Given the description of an element on the screen output the (x, y) to click on. 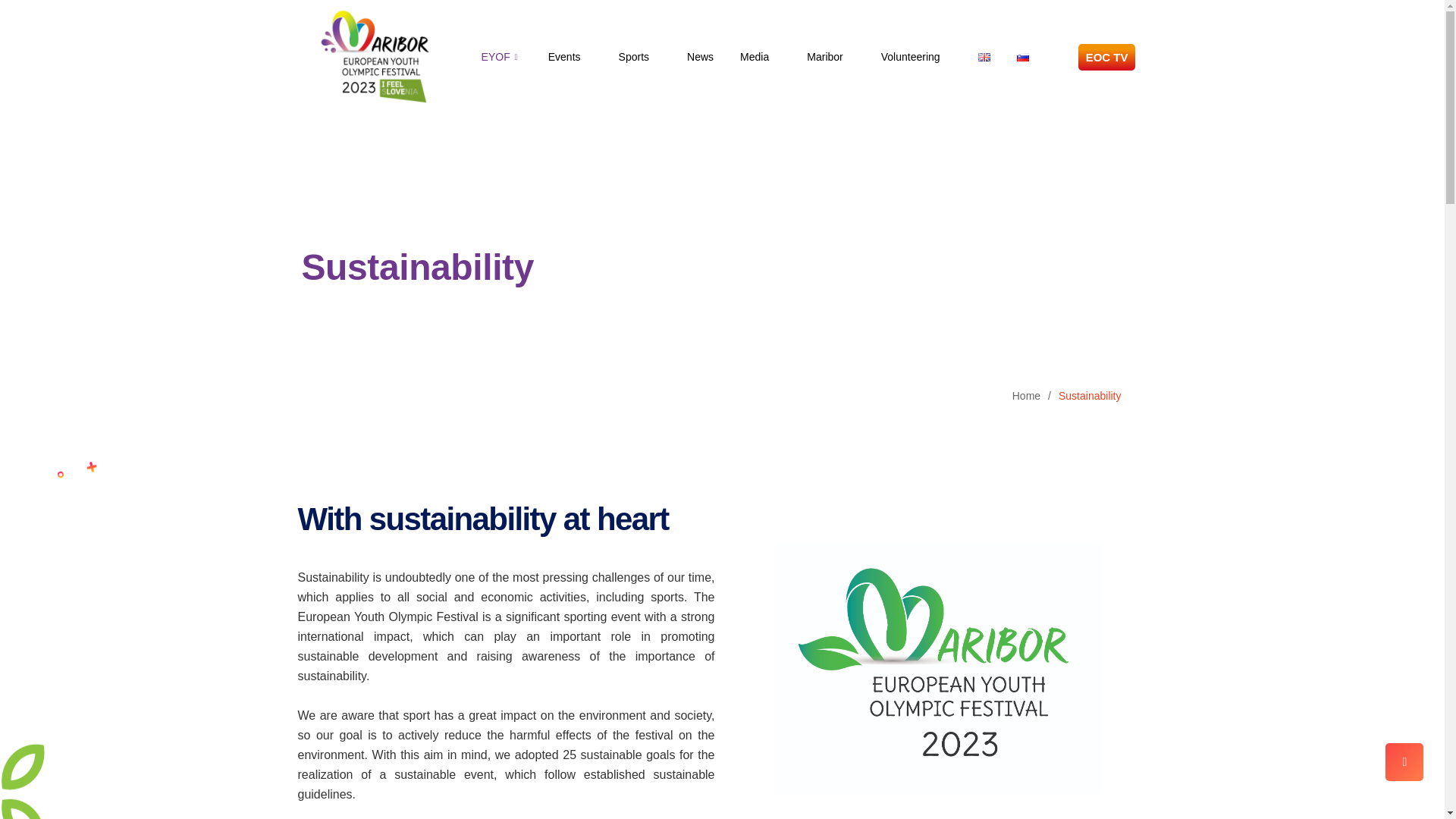
News (713, 56)
EYOF (514, 56)
Media (772, 56)
Maribor (843, 56)
Sports (652, 56)
Events (583, 56)
Volunteering (929, 56)
